Given the description of an element on the screen output the (x, y) to click on. 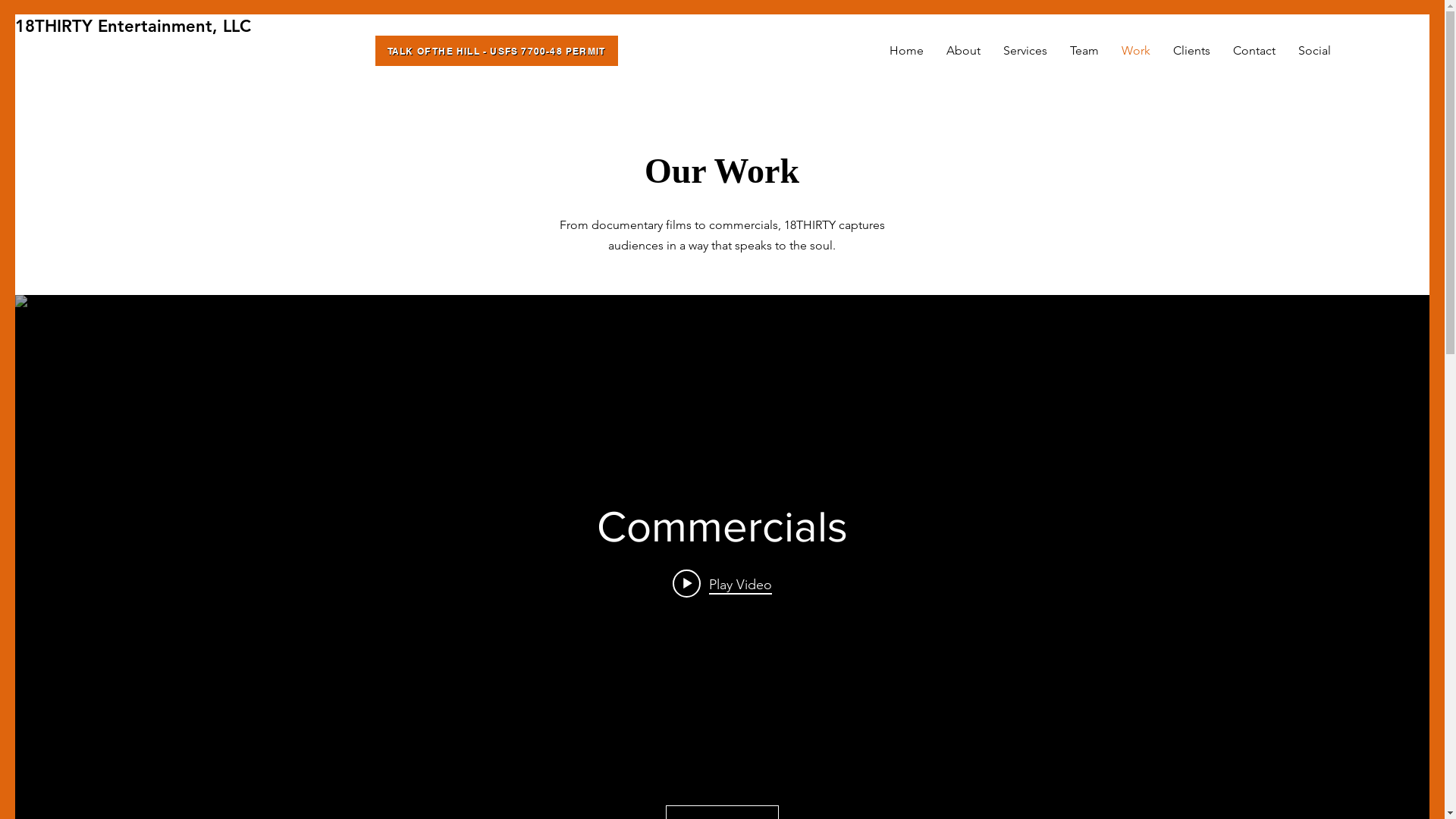
18THIRTY Entertainment, LLC Element type: text (133, 26)
Contact Element type: text (1253, 50)
Team Element type: text (1084, 50)
Social Element type: text (1314, 50)
Work Element type: text (1135, 50)
About Element type: text (963, 50)
Clients Element type: text (1191, 50)
Home Element type: text (906, 50)
TALK OF THE HILL - USFS 7700-48 PERMIT Element type: text (495, 50)
Play Video Element type: text (721, 583)
Services Element type: text (1024, 50)
